Given the description of an element on the screen output the (x, y) to click on. 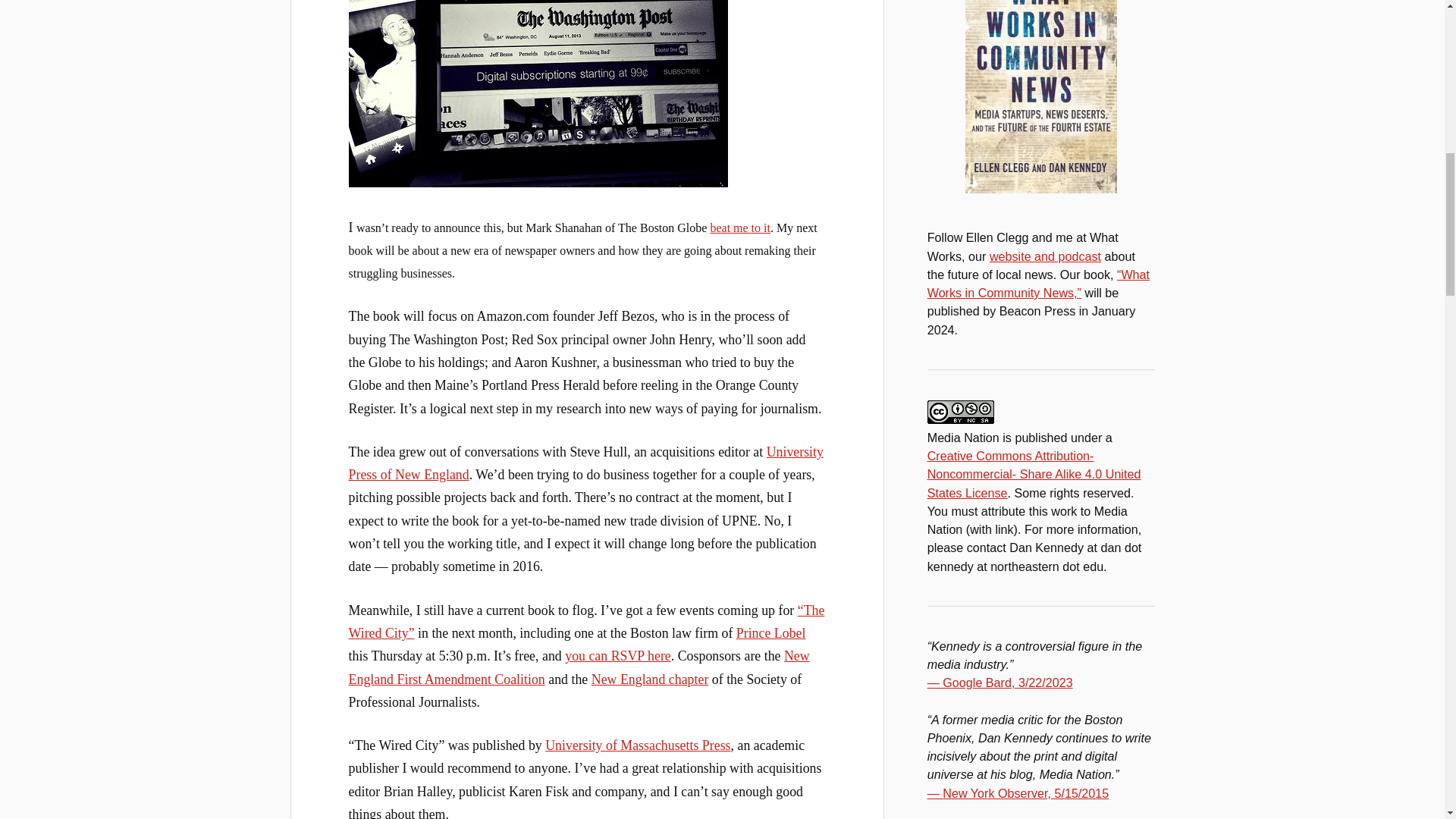
University Press of New England (586, 463)
beat me to it (740, 227)
